Given the description of an element on the screen output the (x, y) to click on. 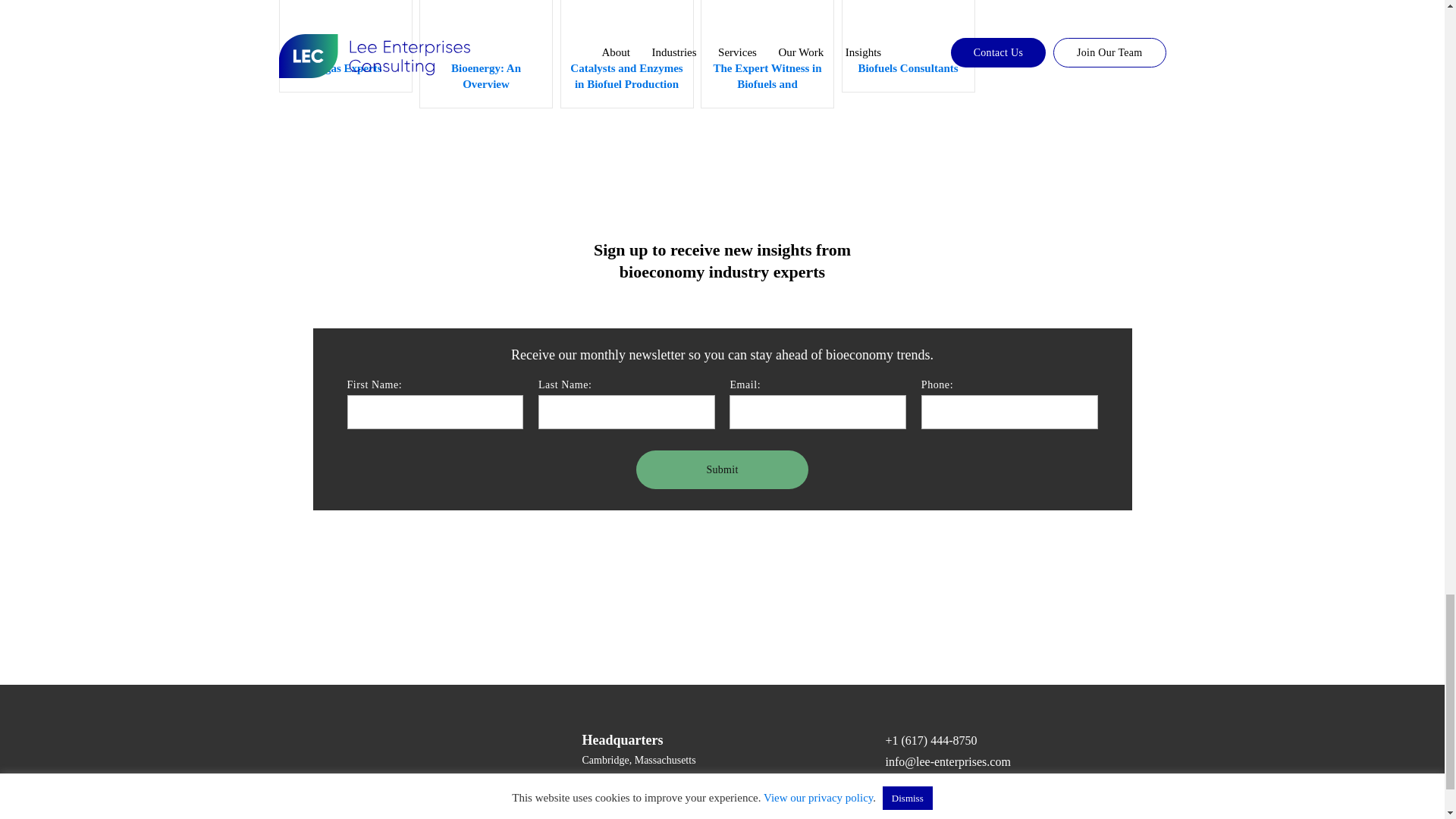
Bioenergy:  An Overview (486, 54)
Submit (722, 469)
Biogas Experts (345, 46)
Footer Logo (385, 755)
The Expert Witness in Biofuels and Biochemicals Litigation (767, 54)
Biofuels Consultants (908, 46)
Catalysts and Enzymes in Biofuel Production (626, 54)
